Given the description of an element on the screen output the (x, y) to click on. 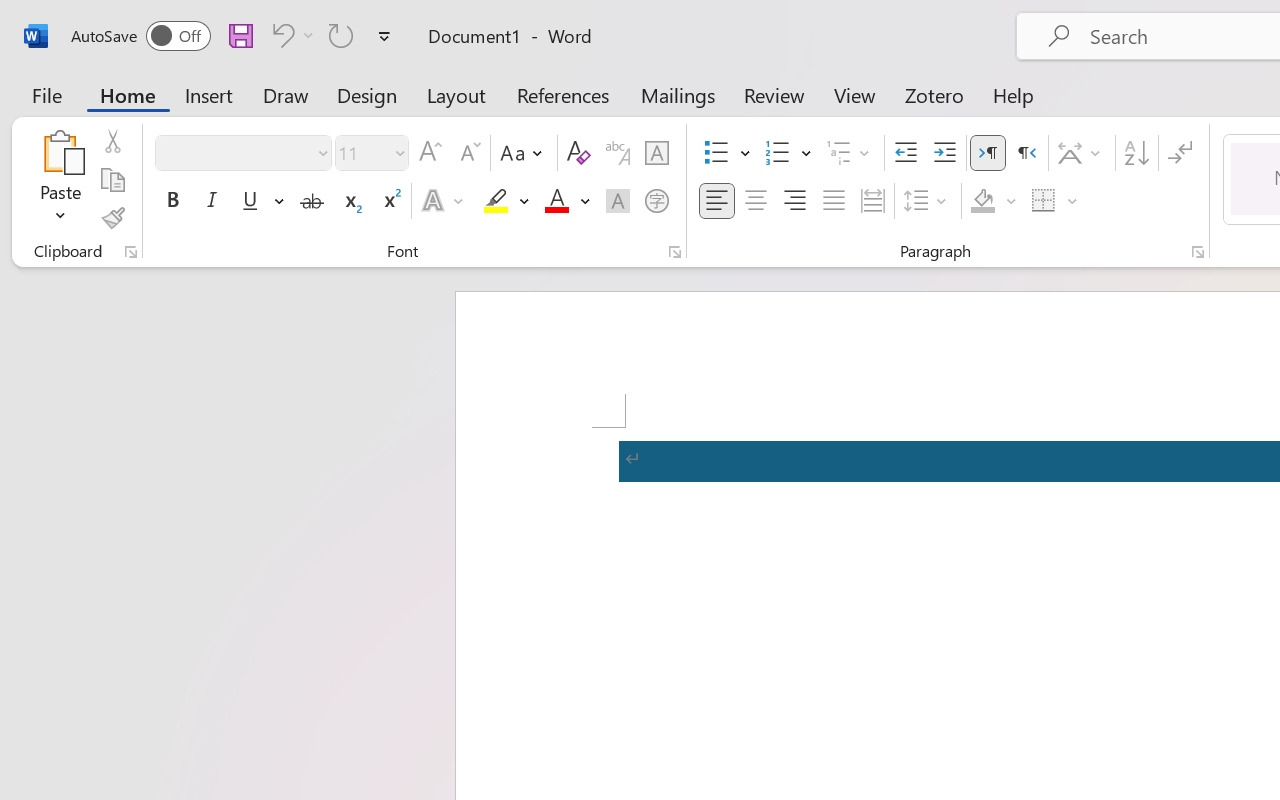
Repeat TCSCTranslate (341, 35)
Text Highlight Color RGB(255, 255, 0) (495, 201)
